Given the description of an element on the screen output the (x, y) to click on. 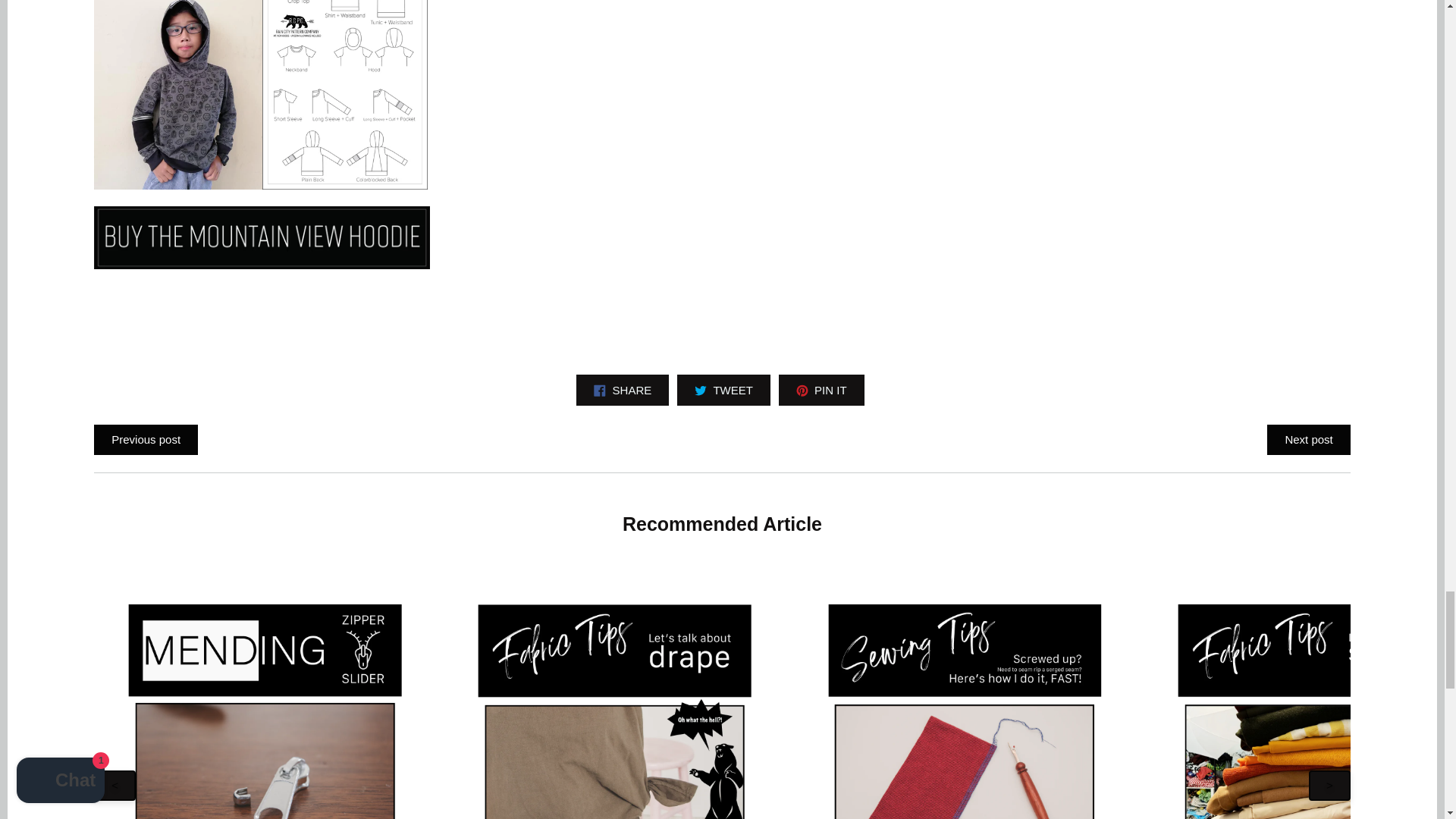
Mountain View Hoodie PDF Sewing Pattern (261, 264)
Mountain View Hoodie PDF Sewing Pattern (261, 185)
